Given the description of an element on the screen output the (x, y) to click on. 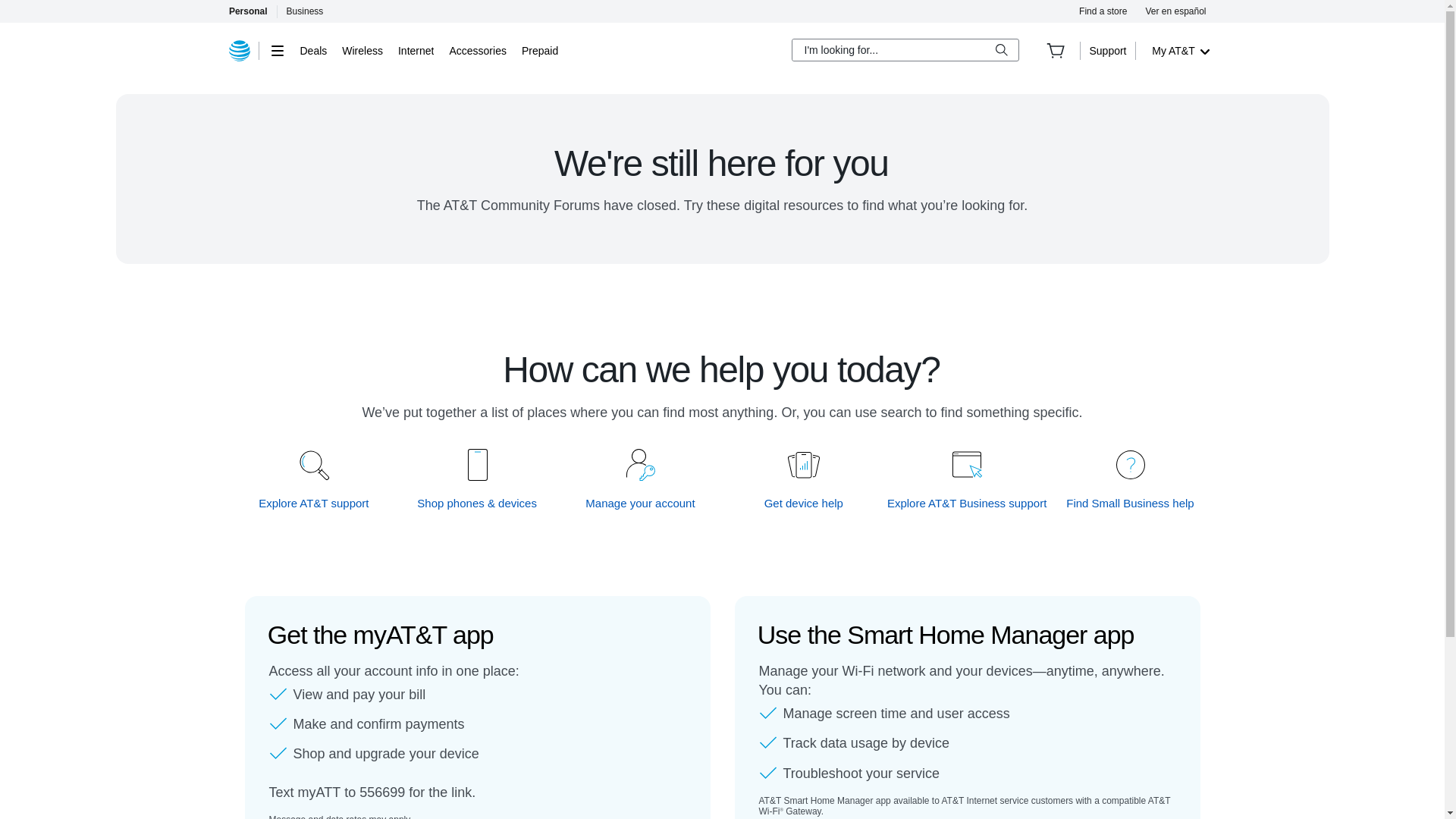
Prepaid (539, 50)
Support (1107, 50)
Find Small Business help (1130, 503)
Support (1107, 50)
Internet (415, 50)
Personal (247, 10)
Business (305, 10)
Wireless (362, 50)
Get device help (803, 503)
Accessories (476, 50)
